Given the description of an element on the screen output the (x, y) to click on. 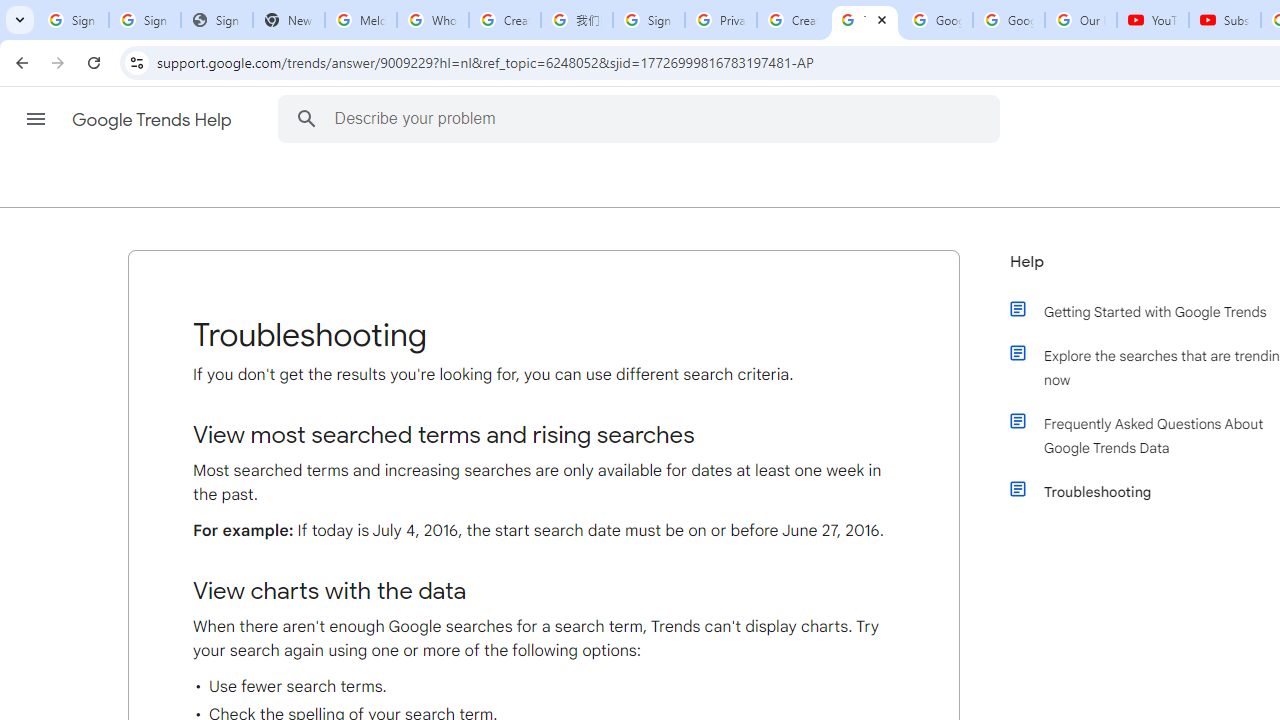
Sign in - Google Accounts (144, 20)
New Tab (289, 20)
Search the Help Center (306, 118)
Main menu (35, 119)
Sign In - USA TODAY (216, 20)
Subscriptions - YouTube (1224, 20)
